Given the description of an element on the screen output the (x, y) to click on. 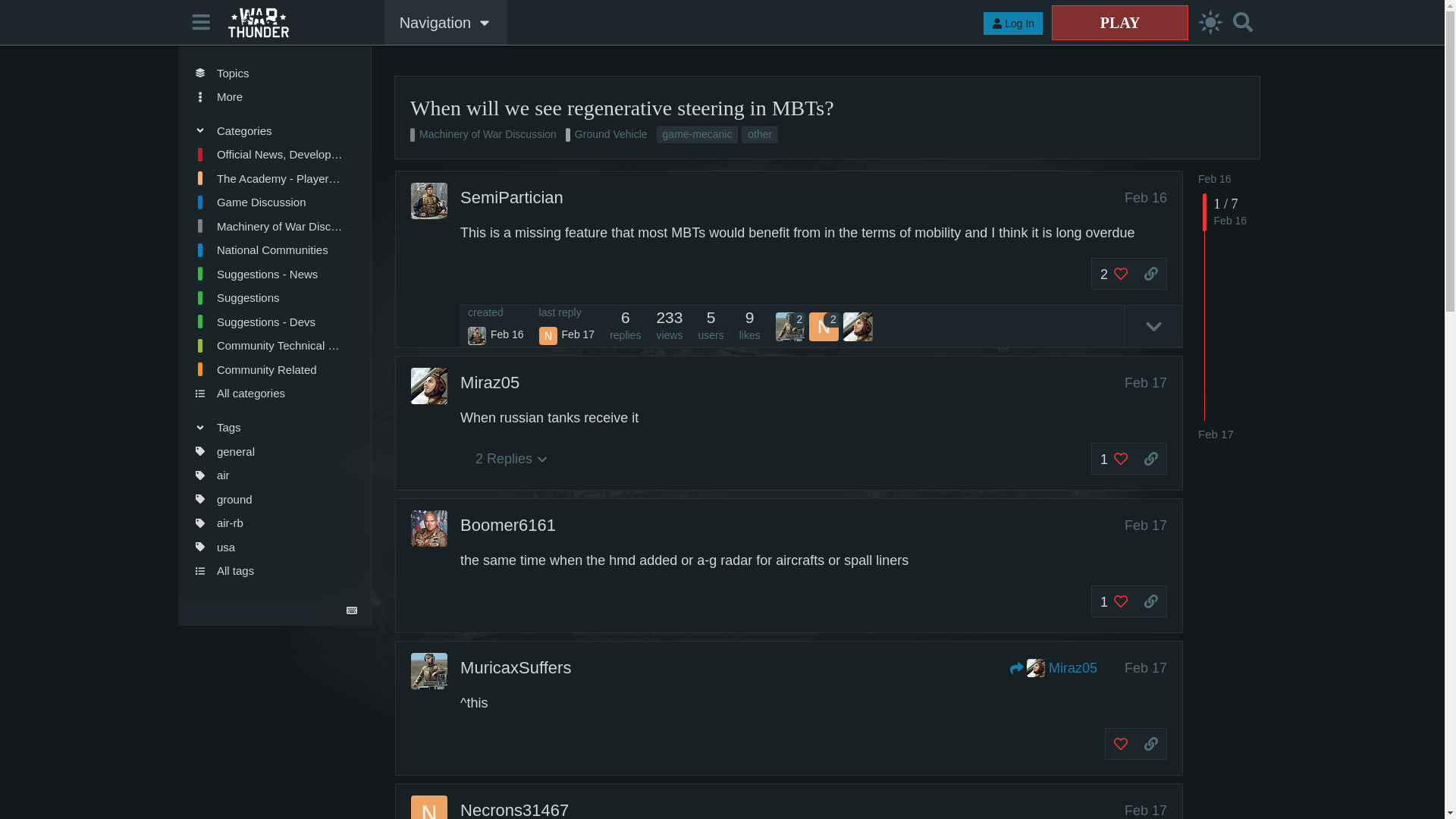
Tags (269, 426)
National Communities (268, 250)
All categories (268, 393)
More (268, 96)
Official News, Development Blogs and Updates for War Thunder (268, 154)
Log In (1013, 23)
Official News, Development Blogs and Updates (268, 154)
Feb 17 (1215, 433)
Toggle color scheme (1210, 22)
When will we see regenerative steering in MBTs? (622, 108)
Play (1119, 22)
Community Related (268, 369)
PLAY (1119, 22)
